Given the description of an element on the screen output the (x, y) to click on. 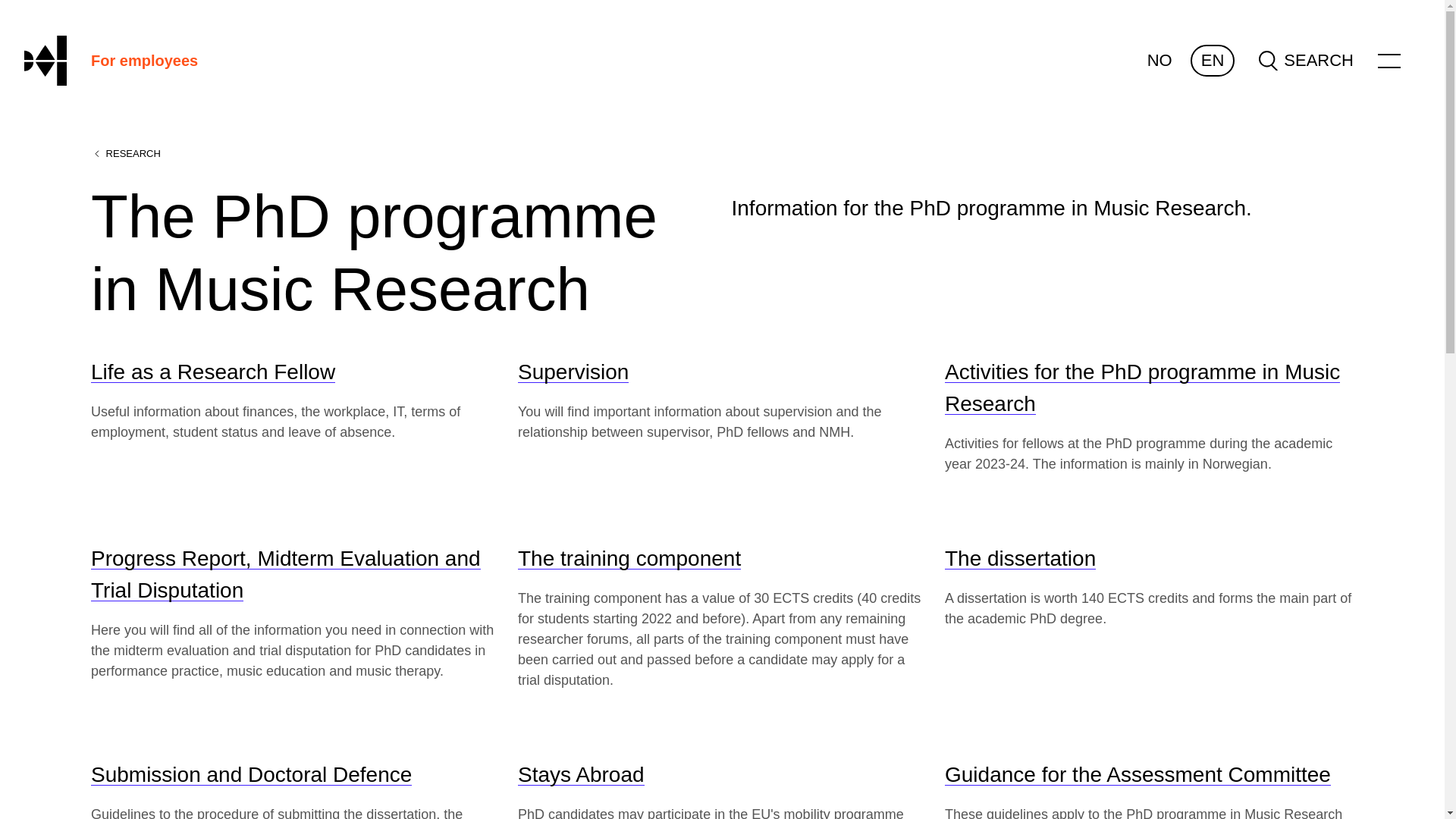
SEARCH (1306, 59)
For employees (144, 60)
NO (1159, 60)
EN (1212, 60)
RESEARCH (125, 153)
Supervision (573, 372)
Life as a Research Fellow (212, 372)
